Given the description of an element on the screen output the (x, y) to click on. 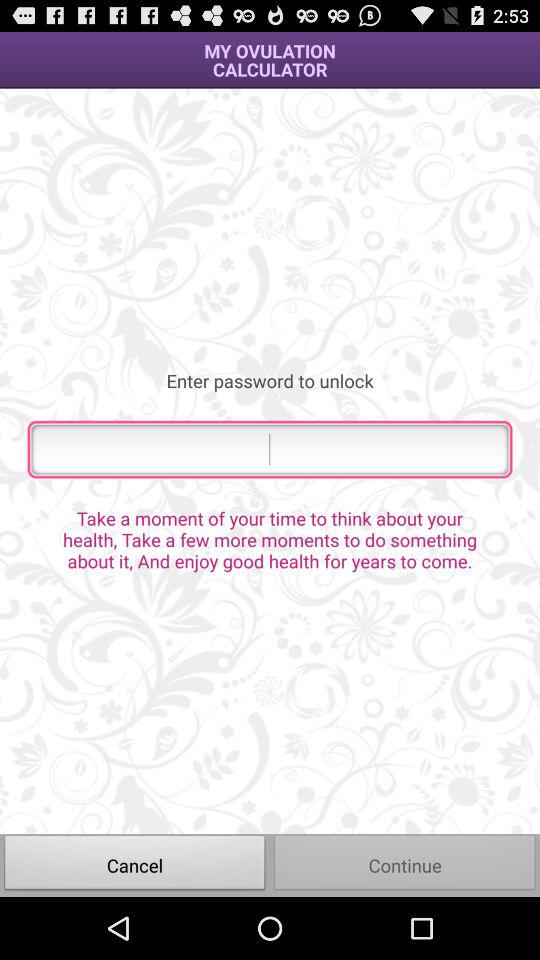
scroll until continue button (405, 864)
